Given the description of an element on the screen output the (x, y) to click on. 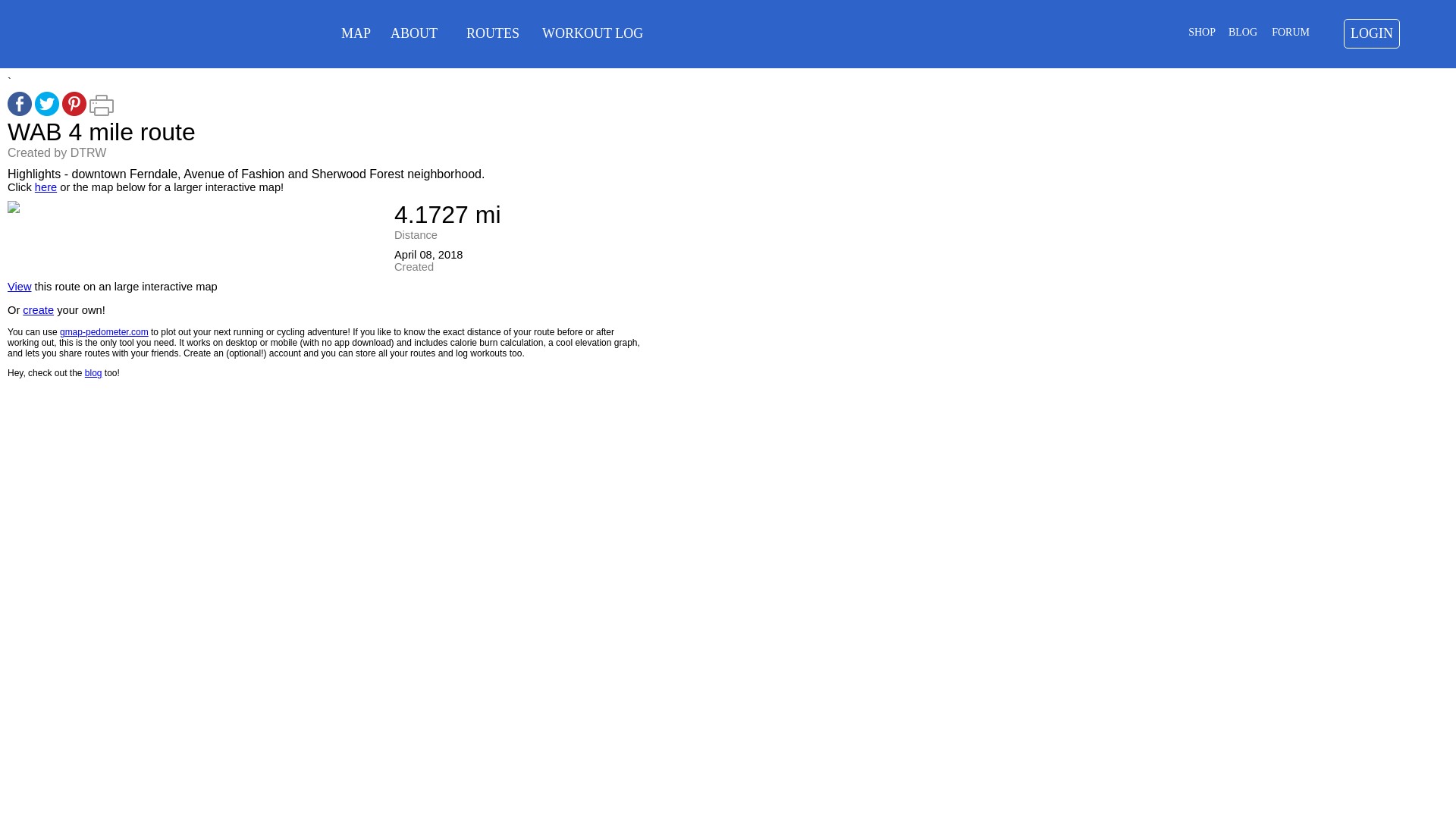
LOGIN (1372, 32)
ABOUT (414, 32)
WORKOUT LOG (592, 32)
click to zoom in (13, 209)
gmap-pedometer.com (103, 331)
SHOP (1201, 31)
Share on Facebook (19, 111)
BLOG (1242, 31)
Tweet (46, 111)
ROUTES (492, 32)
here (45, 186)
create (38, 309)
Print (100, 111)
MAP (355, 32)
blog (92, 372)
